Given the description of an element on the screen output the (x, y) to click on. 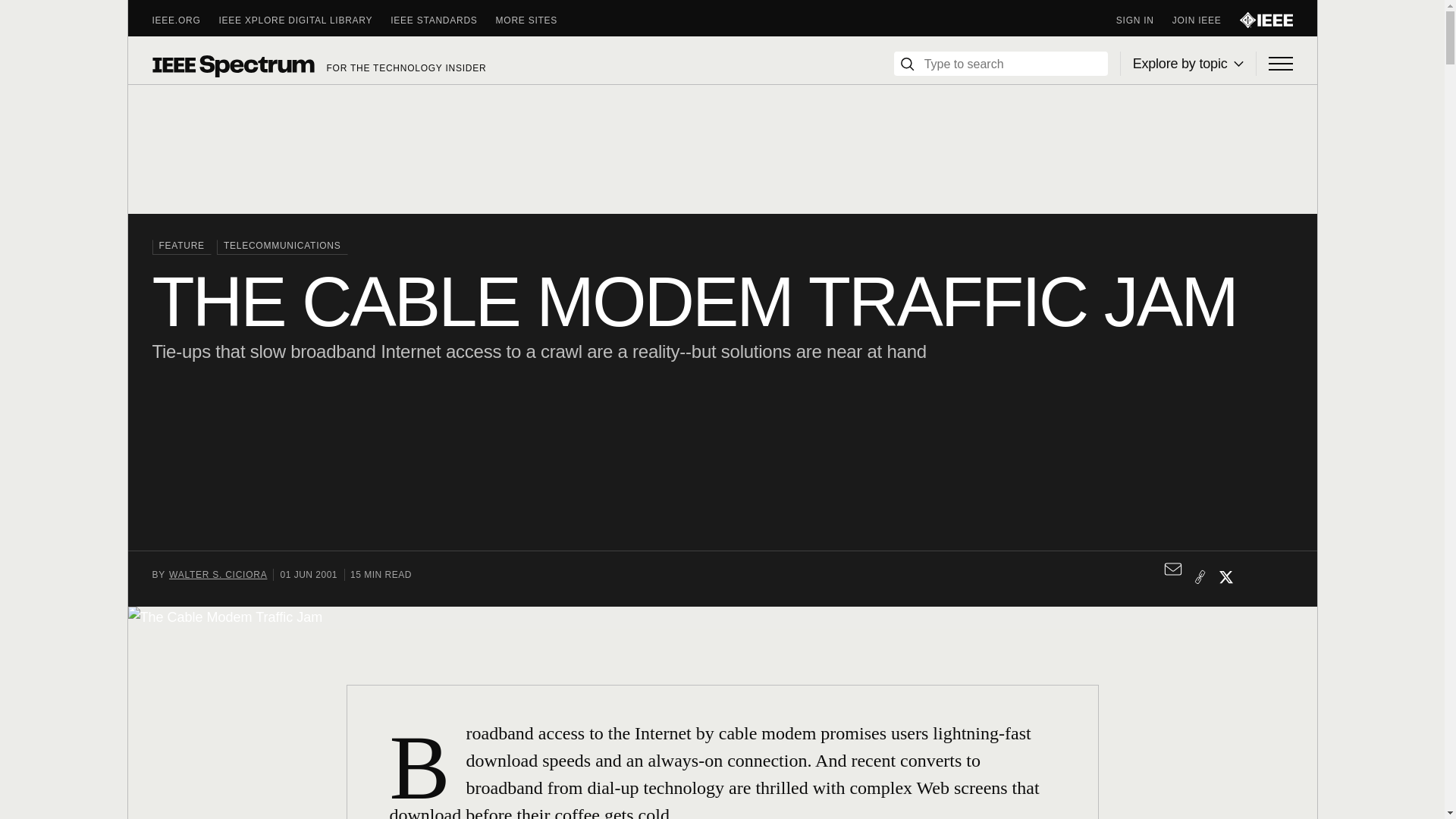
MORE SITES (536, 20)
Spectrum Logo (232, 64)
IEEE XPLORE DIGITAL LIBRARY (305, 20)
Search (907, 63)
JOIN IEEE (1206, 20)
SIGN IN (1144, 20)
Copy this link to clipboard (1199, 576)
IEEE STANDARDS (442, 20)
IEEE.ORG (184, 20)
